Given the description of an element on the screen output the (x, y) to click on. 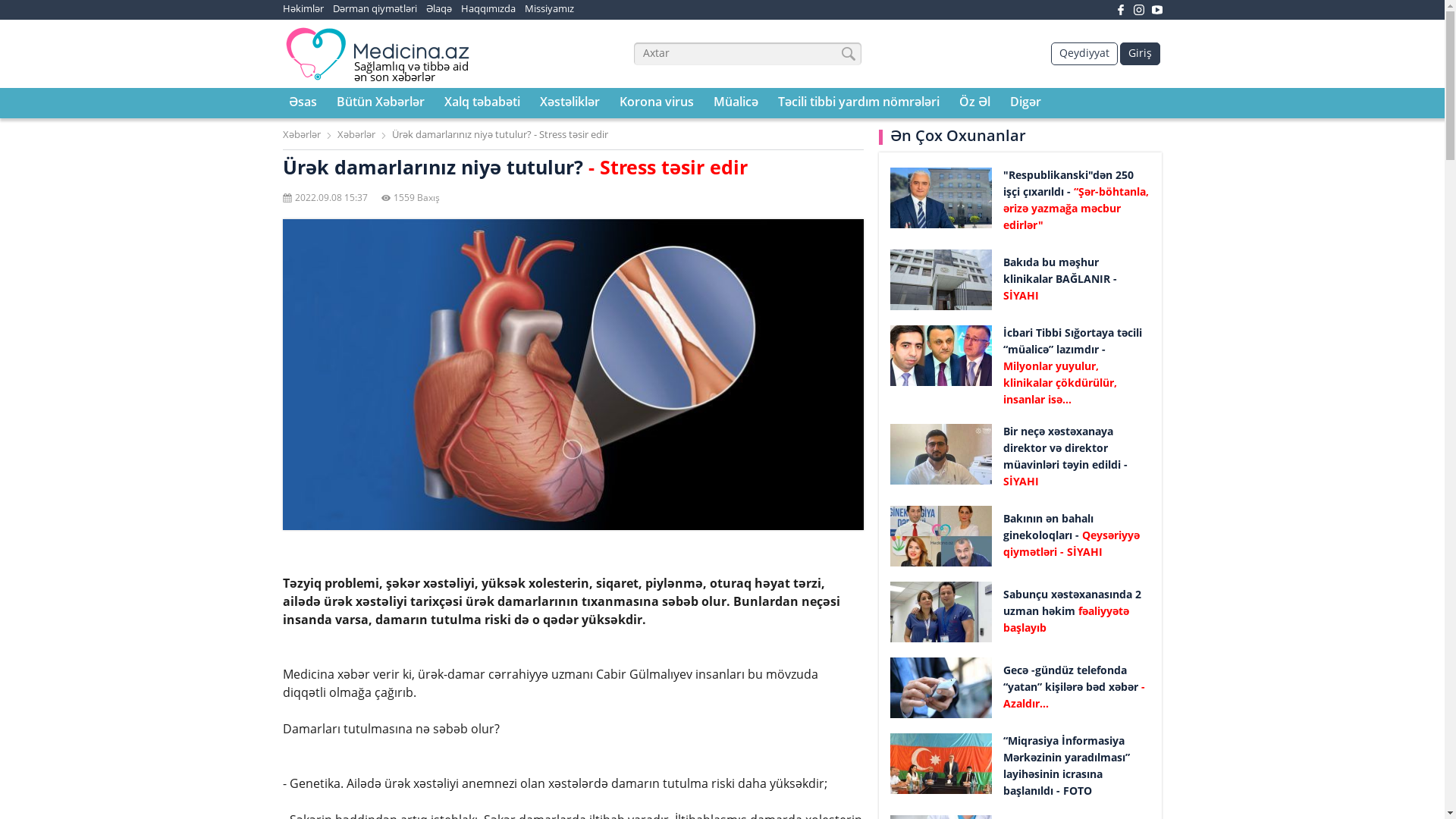
Korona virus Element type: text (655, 102)
Qeydiyyat Element type: text (1084, 53)
